Given the description of an element on the screen output the (x, y) to click on. 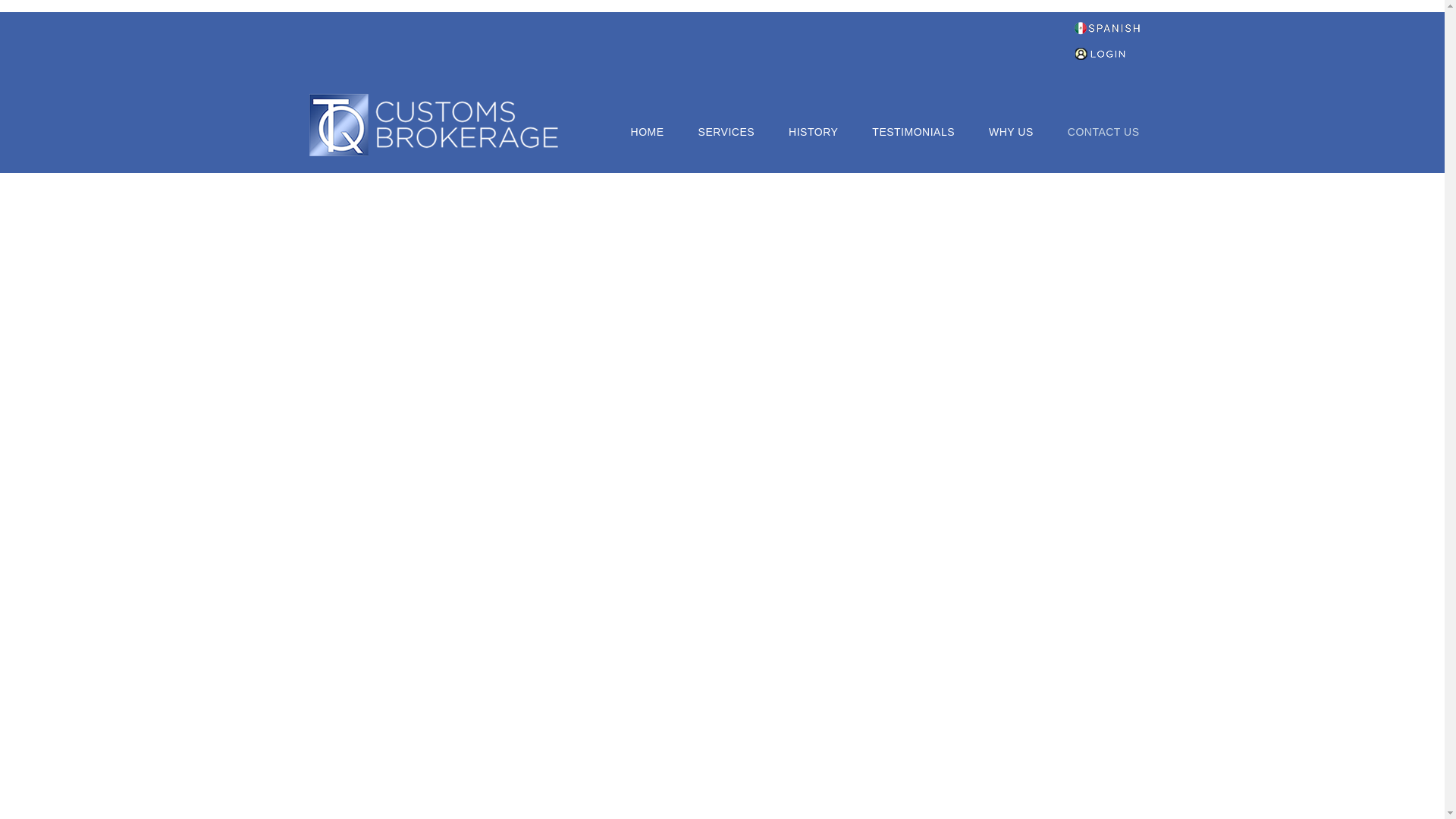
Spanish (1107, 23)
client login portal (1106, 52)
TESTIMONIALS (913, 130)
